Given the description of an element on the screen output the (x, y) to click on. 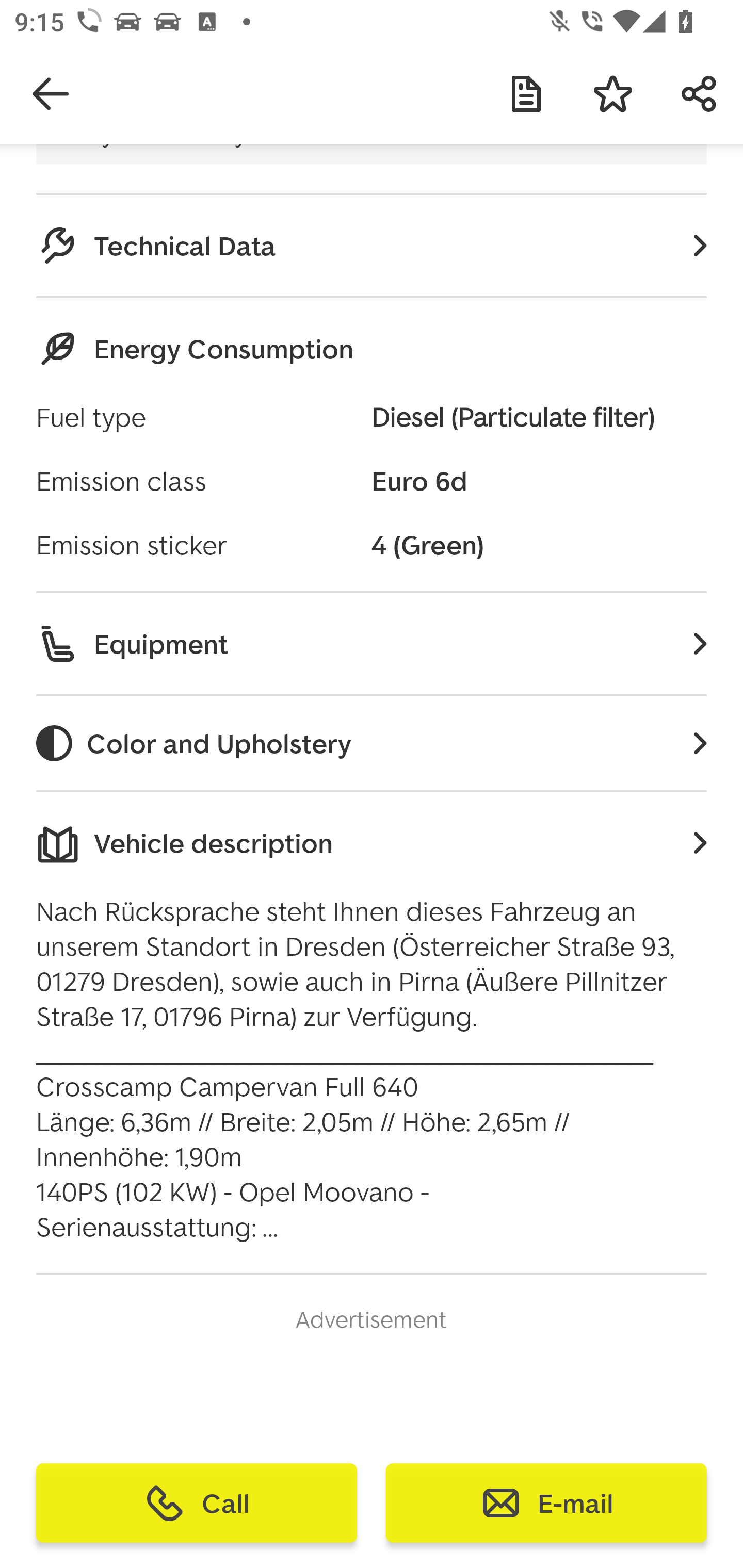
Navigate up (50, 93)
My Notes (525, 93)
Save (612, 93)
Forward (699, 93)
Technical Data (371, 245)
Equipment (371, 643)
Color and Upholstery (371, 743)
Call (196, 1502)
E-mail (545, 1502)
